Given the description of an element on the screen output the (x, y) to click on. 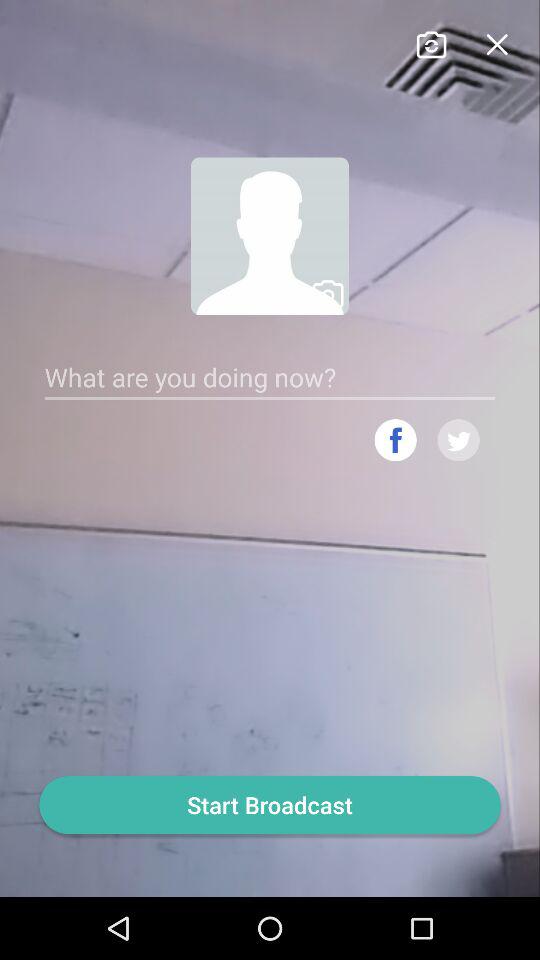
go to camera (430, 42)
